Given the description of an element on the screen output the (x, y) to click on. 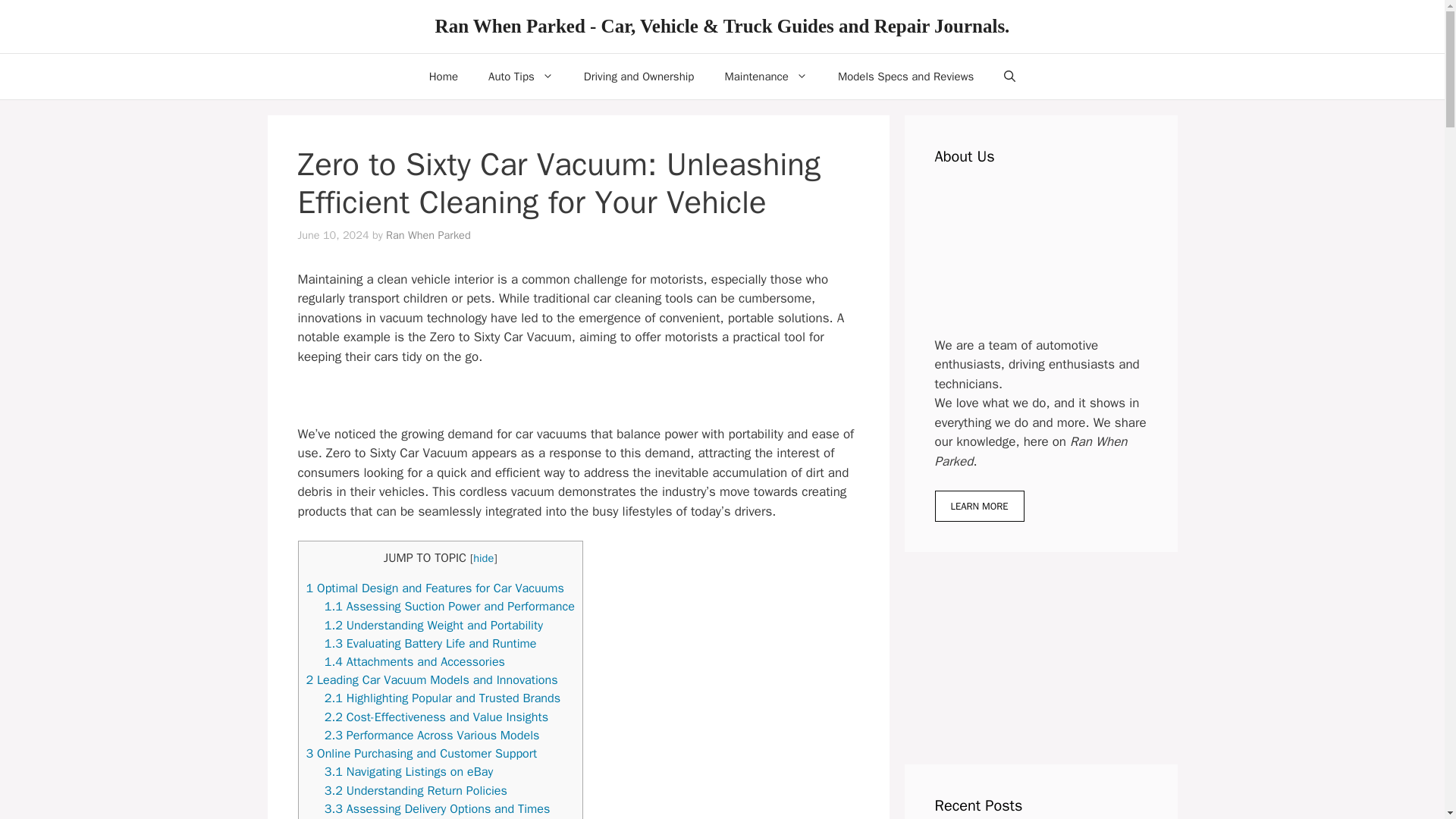
Ran When Parked (427, 234)
2 Leading Car Vacuum Models and Innovations (431, 679)
2.2 Cost-Effectiveness and Value Insights (436, 716)
1 Optimal Design and Features for Car Vacuums (434, 587)
3 Online Purchasing and Customer Support (421, 753)
Home (443, 76)
hide (483, 558)
1.2 Understanding Weight and Portability (433, 625)
View all posts by Ran When Parked (427, 234)
2.3 Performance Across Various Models (432, 734)
